Given the description of an element on the screen output the (x, y) to click on. 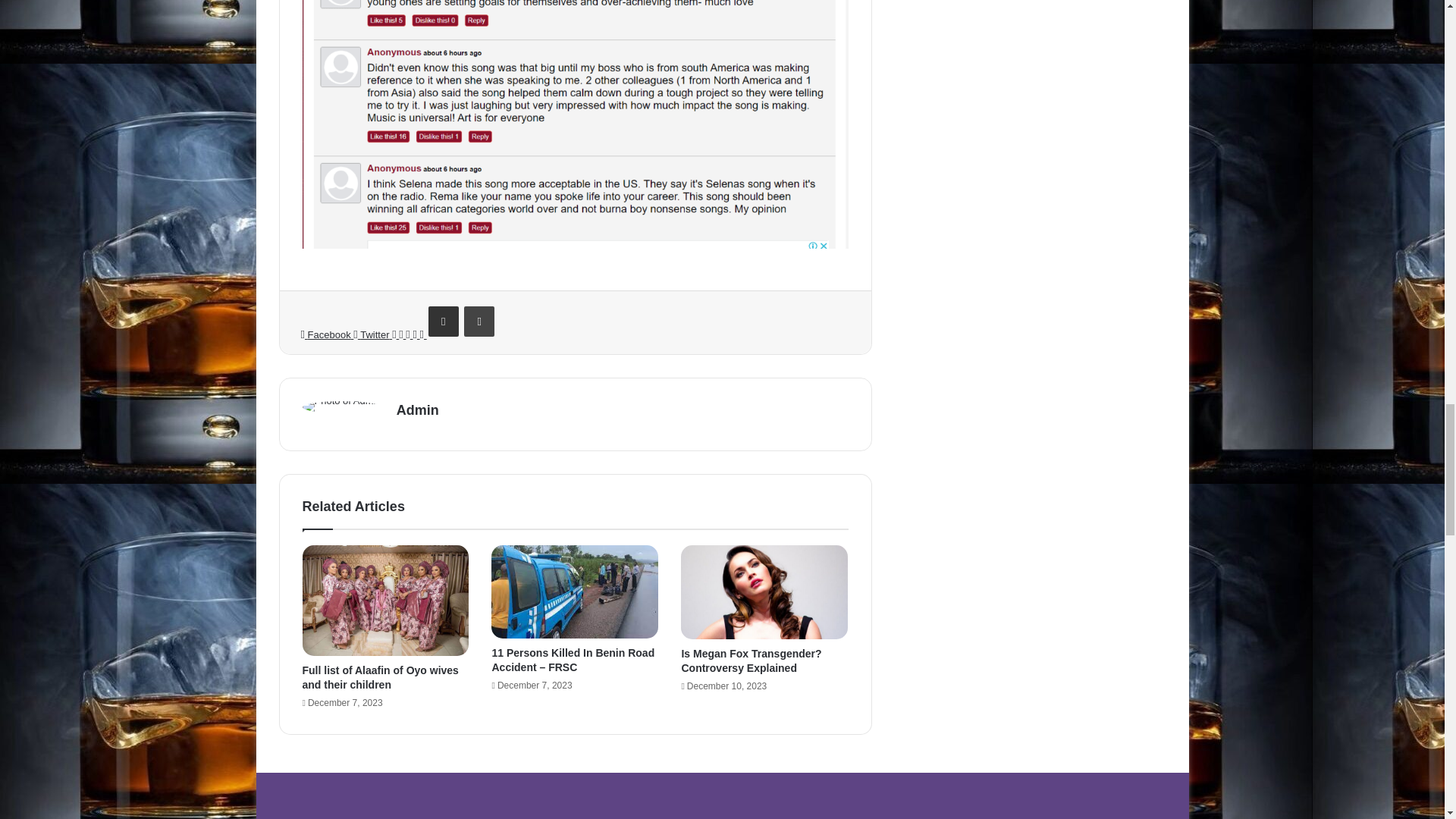
Full list of Alaafin of Oyo wives and their children (379, 677)
Share via Email (443, 321)
Share via Email (443, 321)
Print (479, 321)
Print (479, 321)
Admin (417, 409)
